Given the description of an element on the screen output the (x, y) to click on. 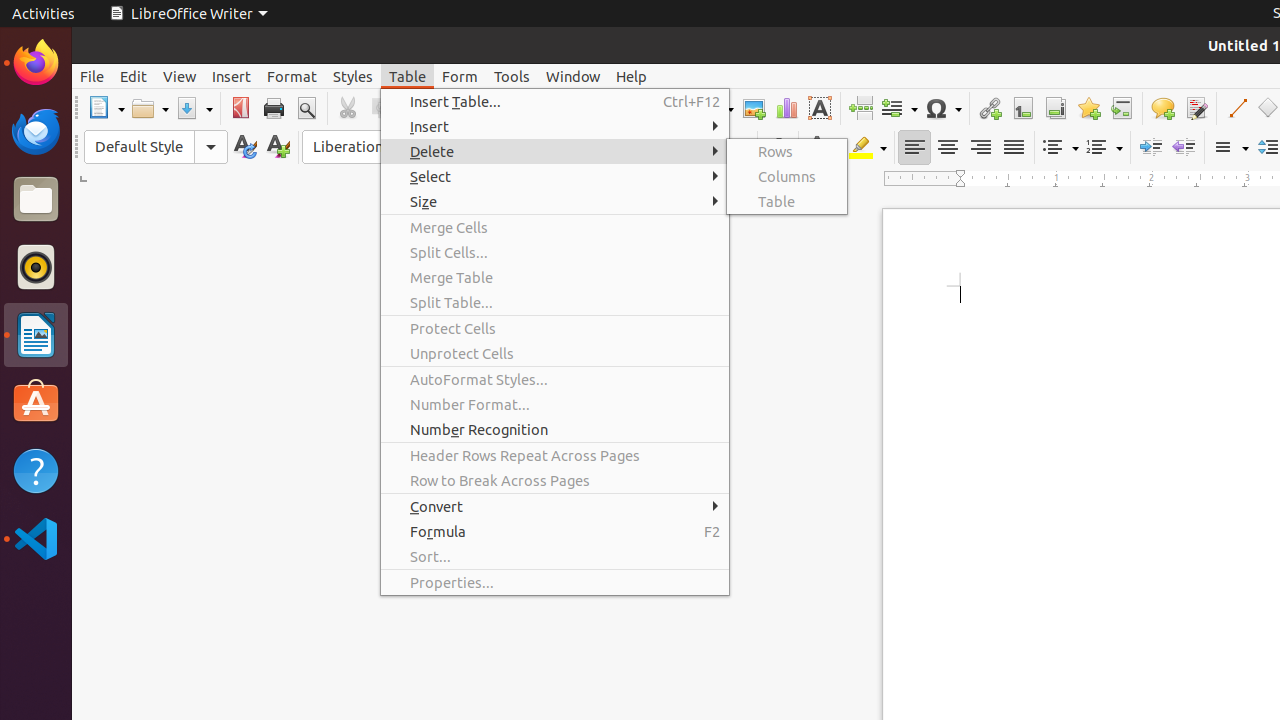
Rhythmbox Element type: push-button (36, 267)
Track Changes Functions Element type: toggle-button (1195, 108)
Merge Table Element type: menu-item (555, 277)
Table Element type: menu-item (787, 201)
Cut Element type: push-button (347, 108)
